Given the description of an element on the screen output the (x, y) to click on. 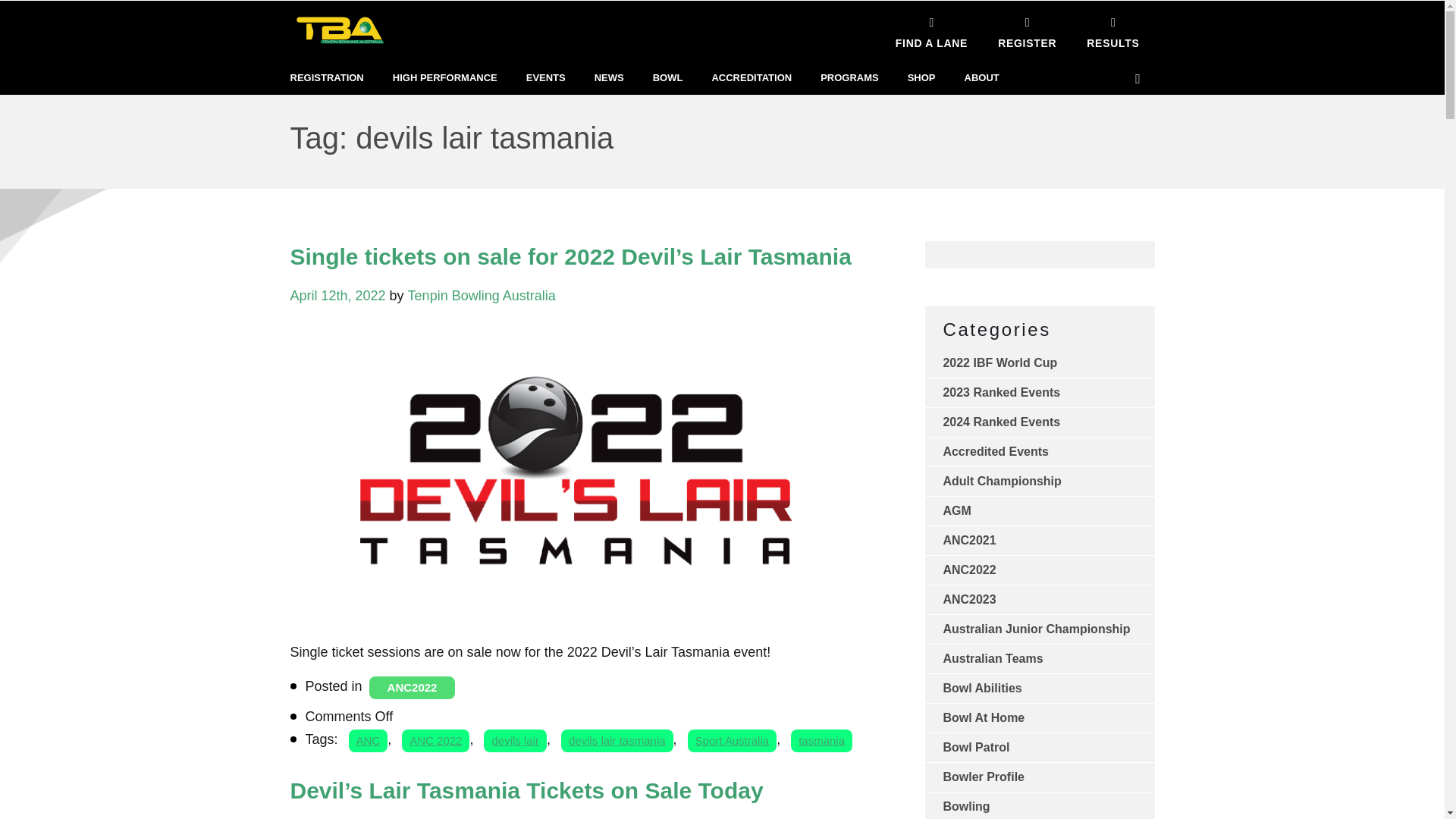
HIGH PERFORMANCE (445, 78)
RESULTS (1112, 30)
REGISTER (1026, 30)
EVENTS (545, 78)
REGISTRATION (325, 78)
FIND A LANE (931, 30)
BOWL (667, 78)
